Given the description of an element on the screen output the (x, y) to click on. 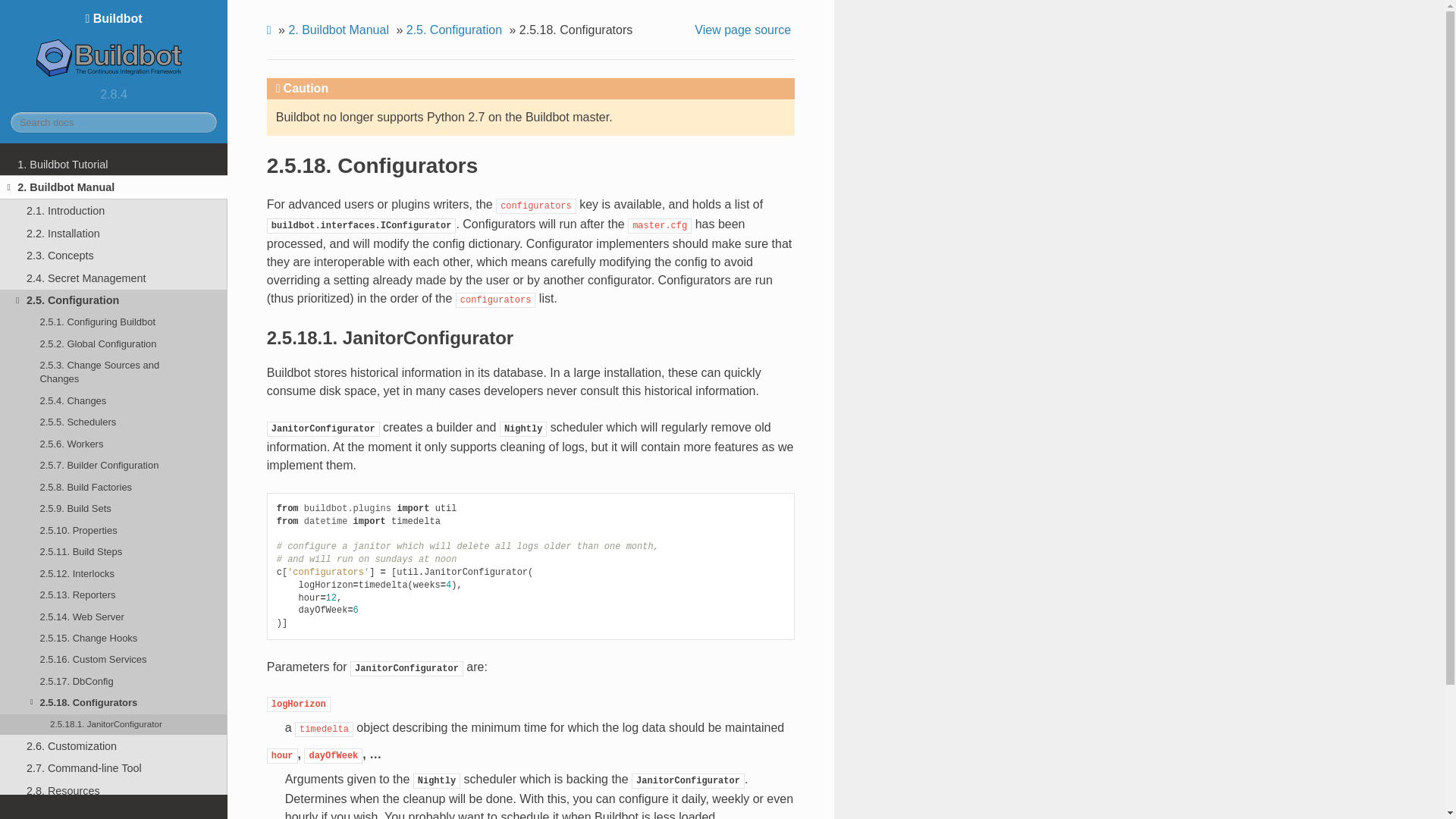
Nightly (523, 427)
2.5.15. Change Hooks (113, 638)
2.5.5. Schedulers (113, 422)
2.5.4. Changes (113, 400)
2.5.18. Configurators (113, 702)
2.5.7. Builder Configuration (113, 465)
2.6. Customization (113, 745)
2.4. Secret Management (113, 277)
2.5.6. Workers (113, 444)
JanitorConfigurator (687, 779)
2.5.8. Build Factories (113, 486)
2.5.9. Build Sets (113, 508)
2.5.17. DbConfig (113, 681)
2.3. Concepts (113, 255)
JanitorConfigurator (323, 427)
